Given the description of an element on the screen output the (x, y) to click on. 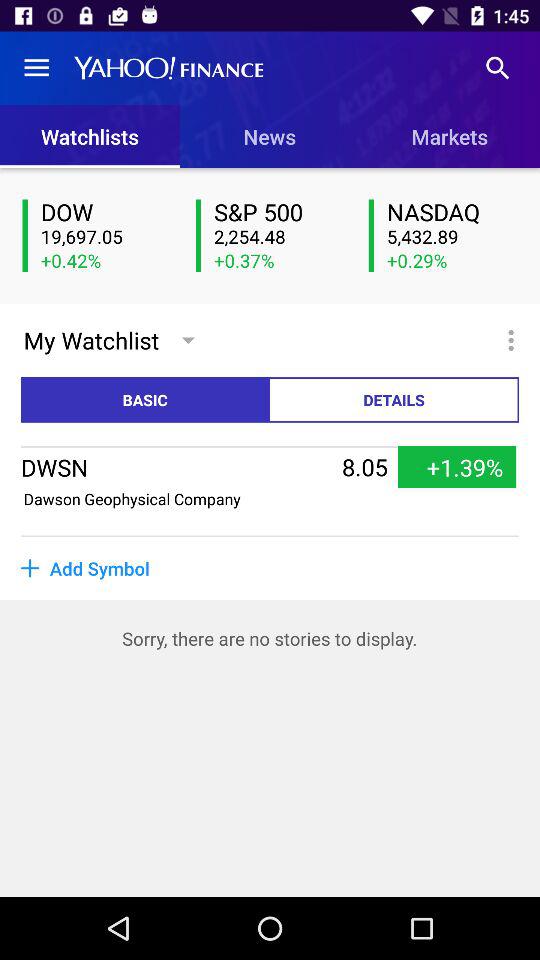
select icon below markets item (451, 212)
